Given the description of an element on the screen output the (x, y) to click on. 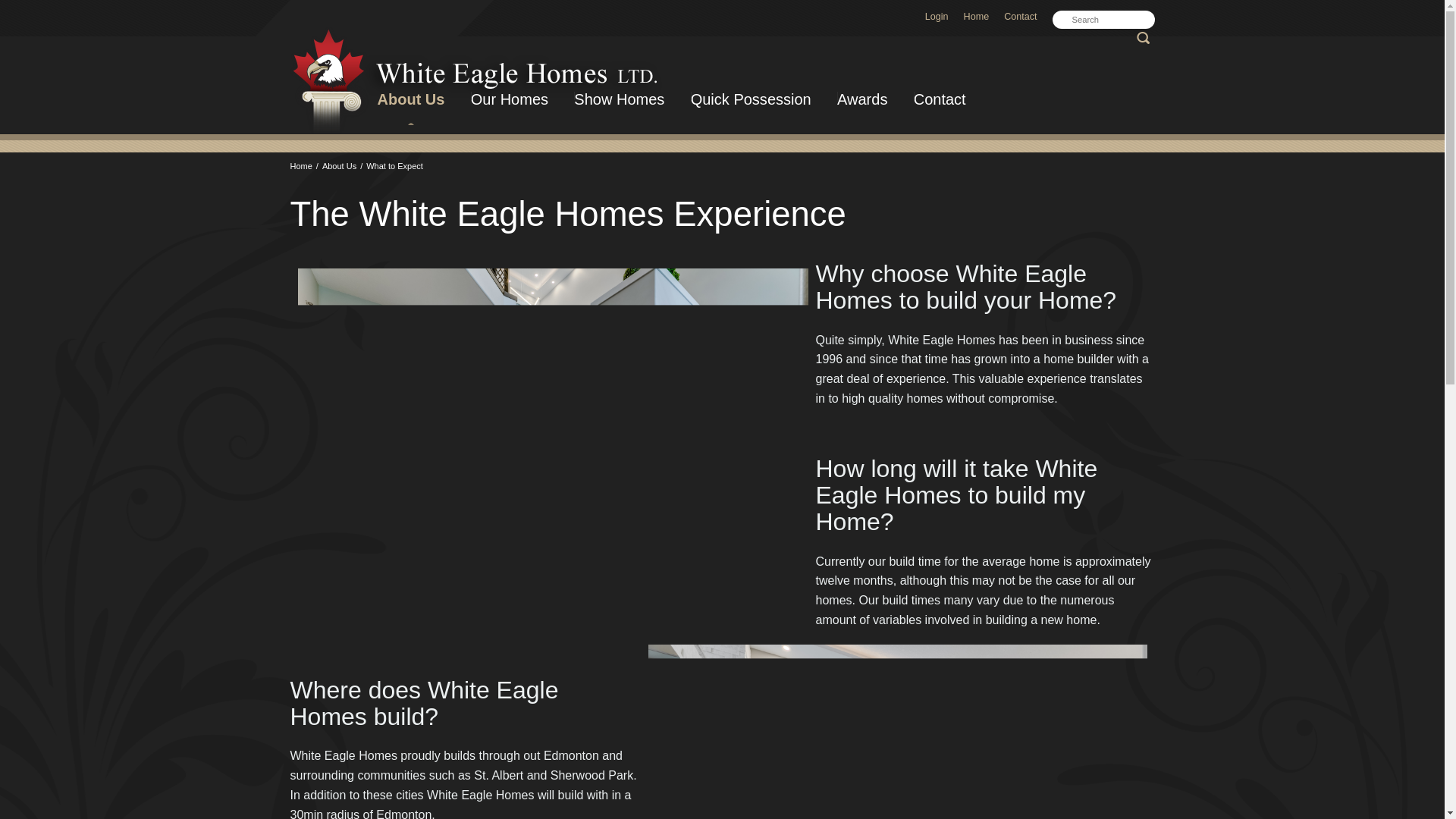
Contact (1019, 17)
Home (976, 17)
Our Homes (509, 99)
About Us (410, 105)
Login (936, 17)
